Given the description of an element on the screen output the (x, y) to click on. 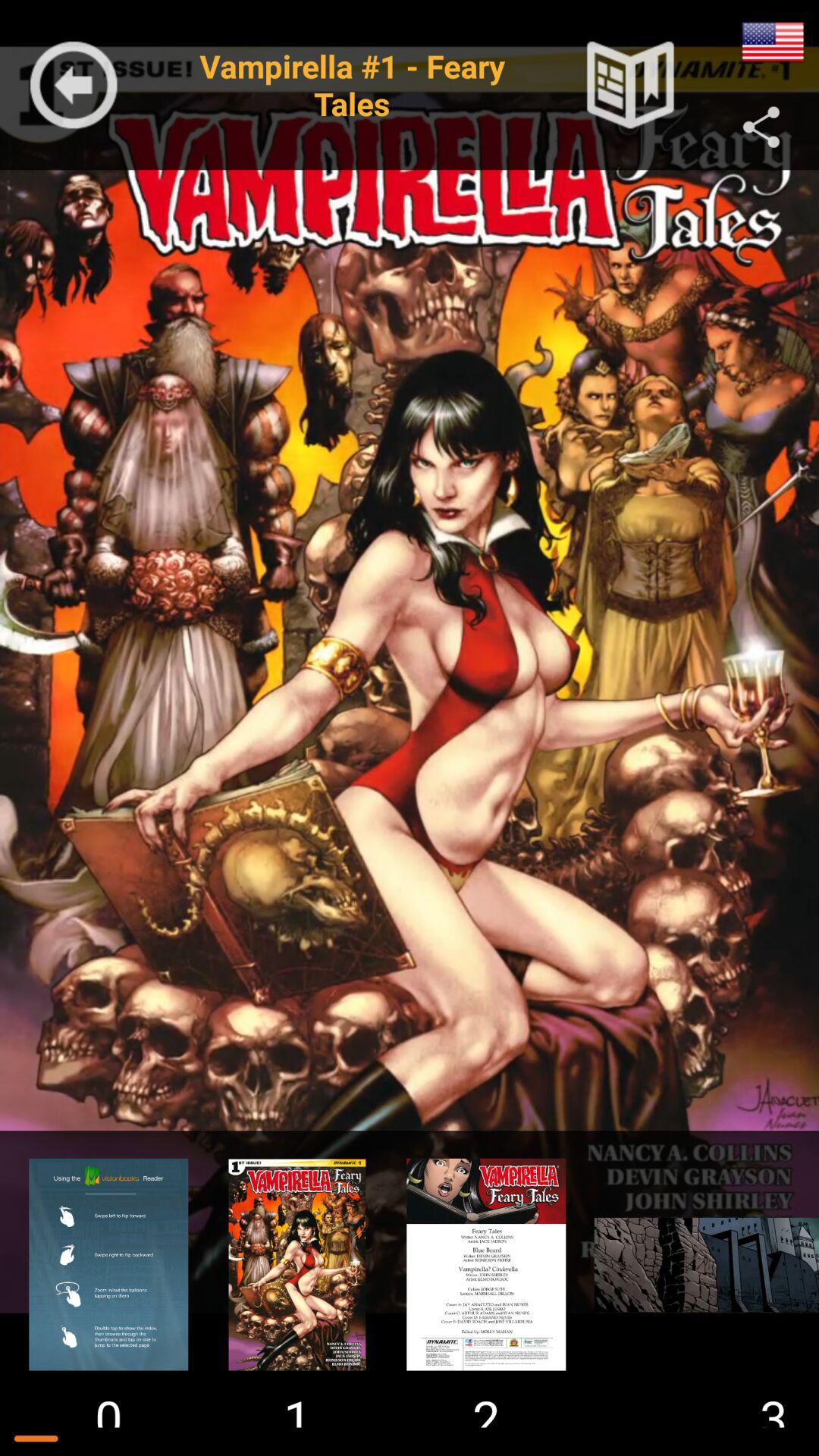
change to usa (772, 42)
